Given the description of an element on the screen output the (x, y) to click on. 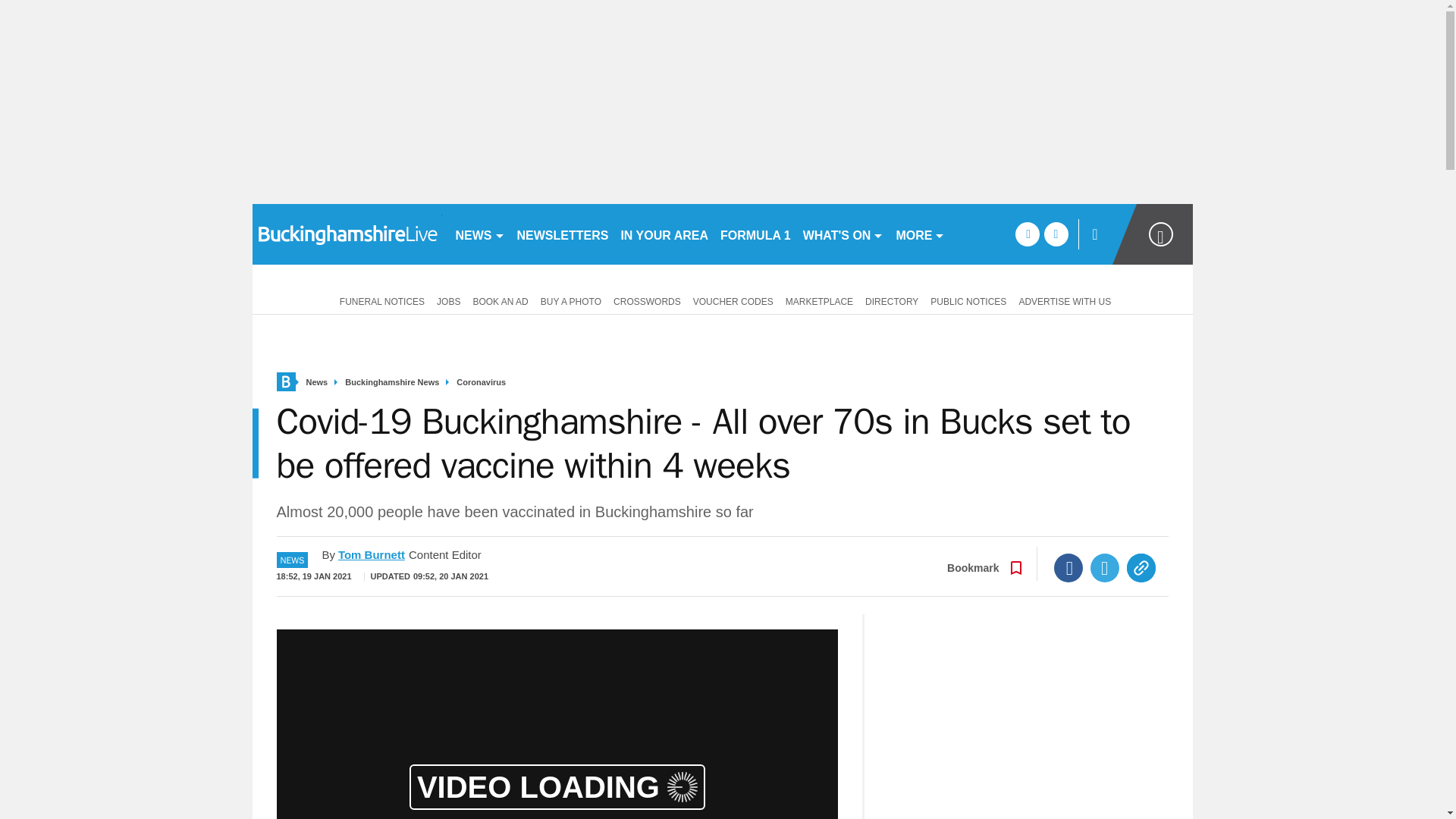
FORMULA 1 (755, 233)
DIRECTORY (891, 300)
Home (285, 381)
VOUCHER CODES (732, 300)
MORE (919, 233)
BUY A PHOTO (570, 300)
Twitter (1104, 567)
NEWSLETTERS (562, 233)
FUNERAL NOTICES (378, 300)
IN YOUR AREA (664, 233)
